Given the description of an element on the screen output the (x, y) to click on. 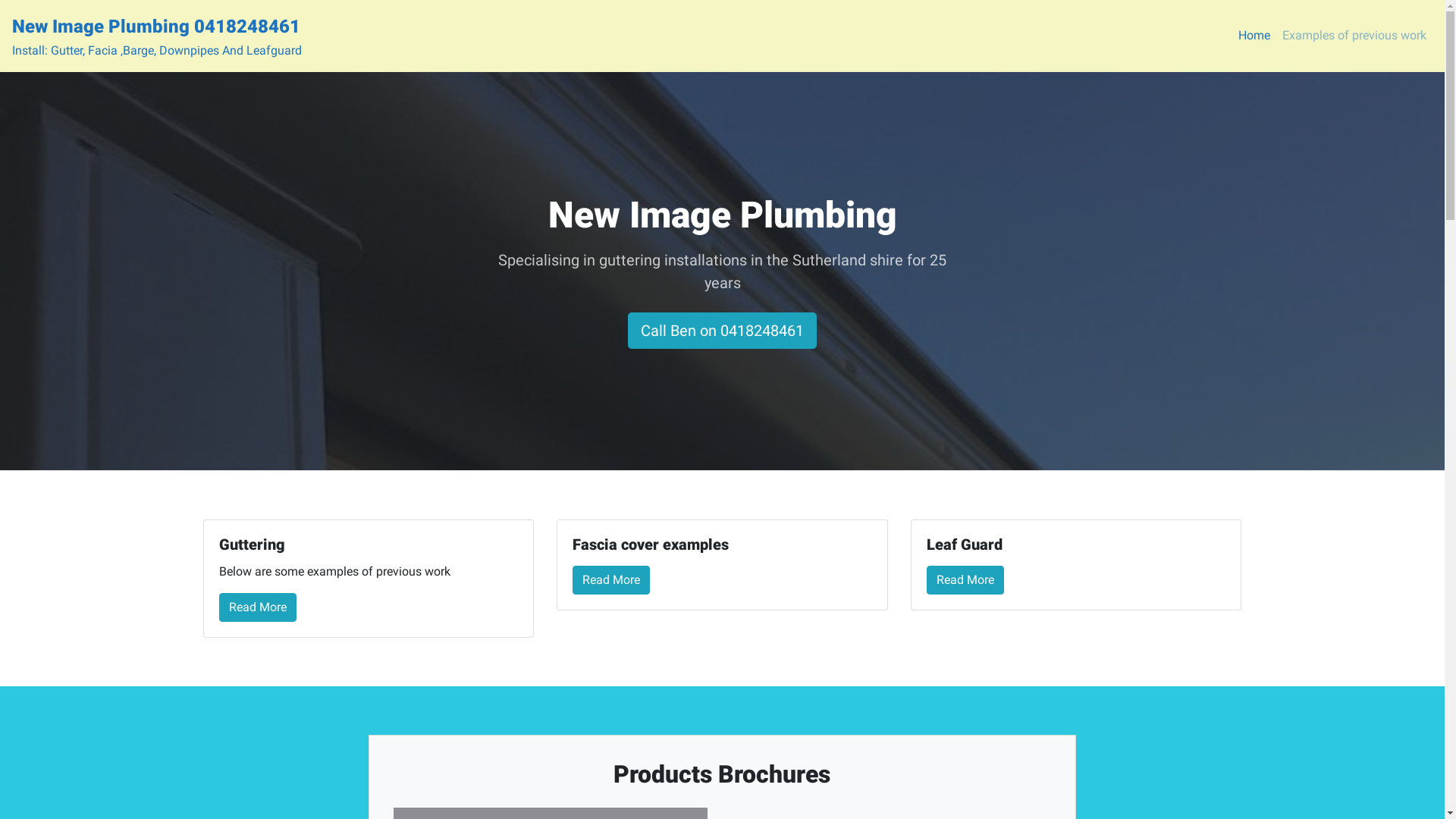
Home Element type: text (1254, 35)
Call Ben on 0418248461 Element type: text (721, 330)
New Image Plumbing 0418248461 Element type: text (156, 26)
Read More Element type: text (256, 607)
Read More Element type: text (965, 579)
Read More Element type: text (610, 579)
Examples of previous work Element type: text (1354, 35)
